Given the description of an element on the screen output the (x, y) to click on. 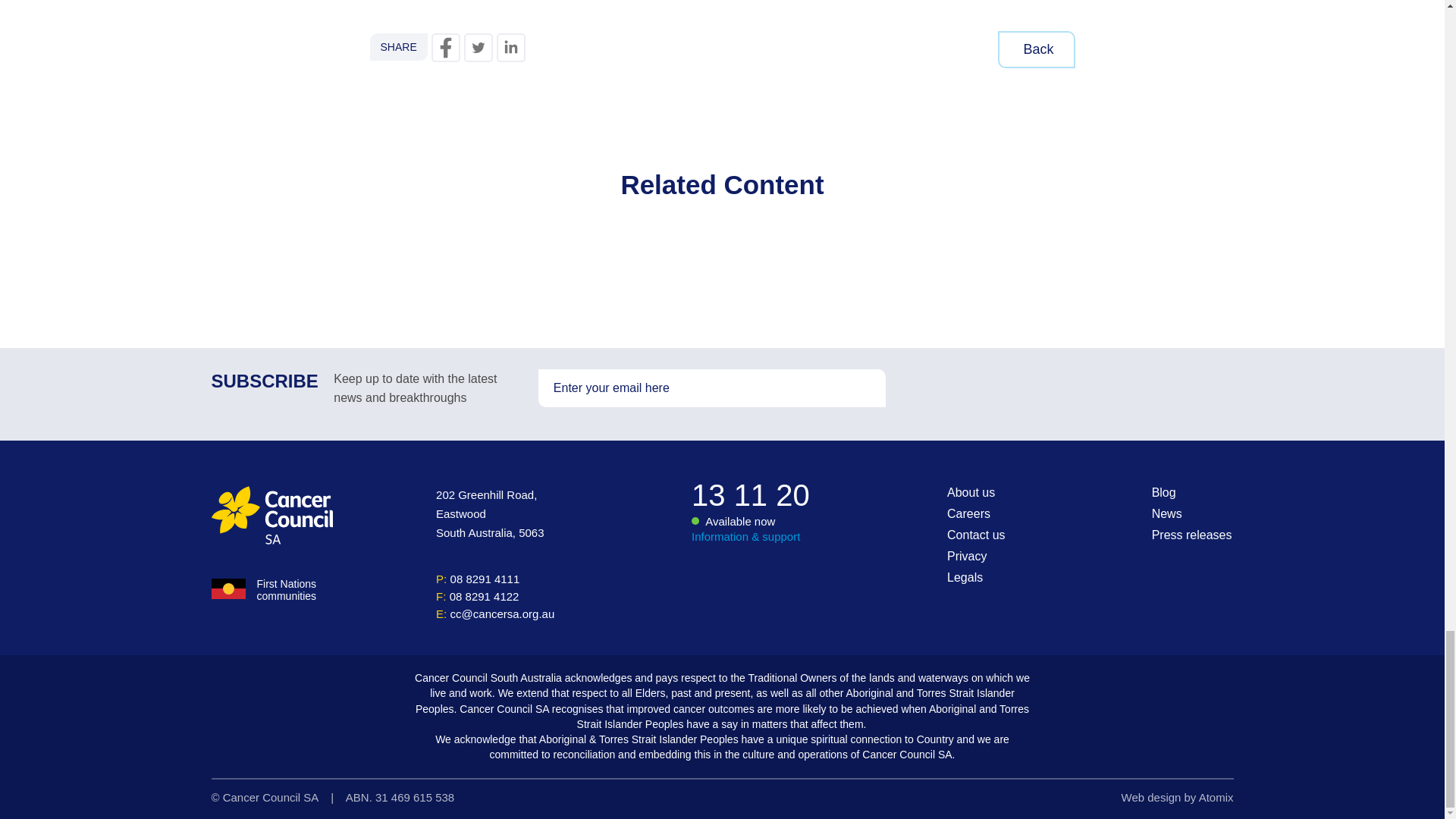
web design by atomix (1177, 797)
Share on Facebook (445, 47)
Share on Twitter (478, 47)
Share on LinkedIn (510, 47)
